Given the description of an element on the screen output the (x, y) to click on. 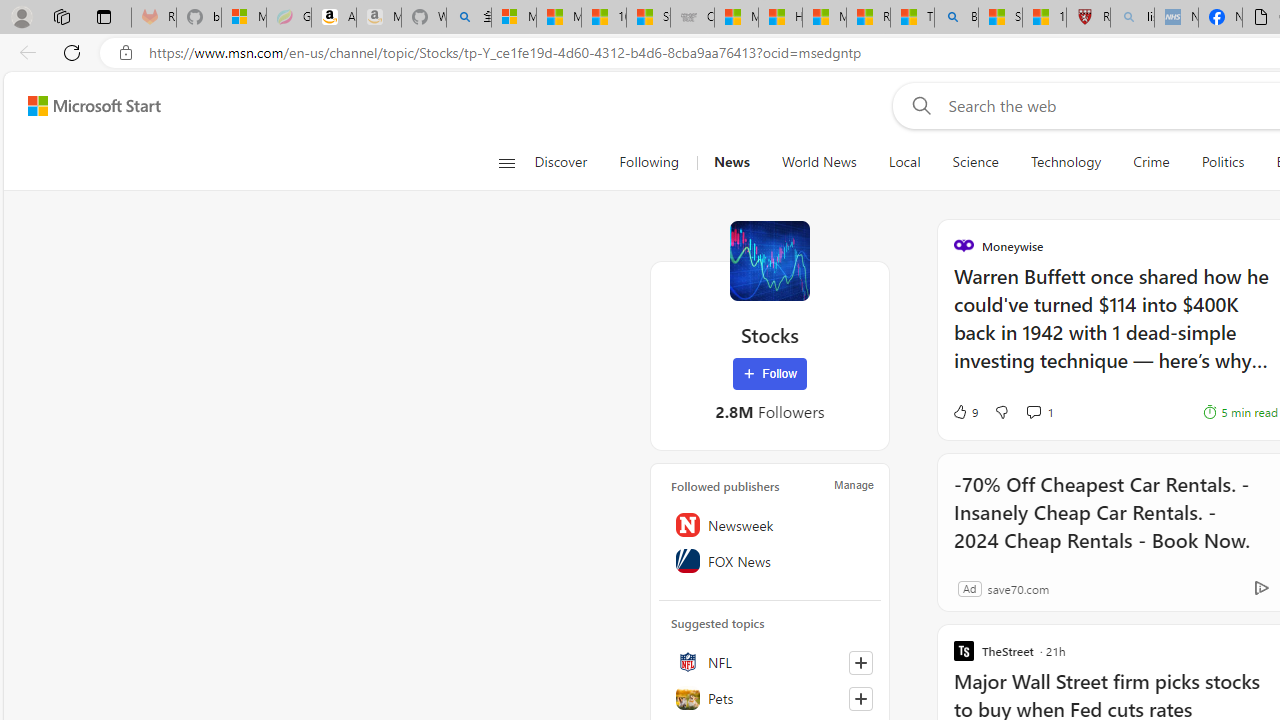
Crime (1151, 162)
Open navigation menu (506, 162)
FOX News (770, 561)
list of asthma inhalers uk - Search - Sleeping (1132, 17)
Web search (917, 105)
Stocks - MSN (648, 17)
save70.com (1017, 588)
How I Got Rid of Microsoft Edge's Unnecessary Features (780, 17)
